Given the description of an element on the screen output the (x, y) to click on. 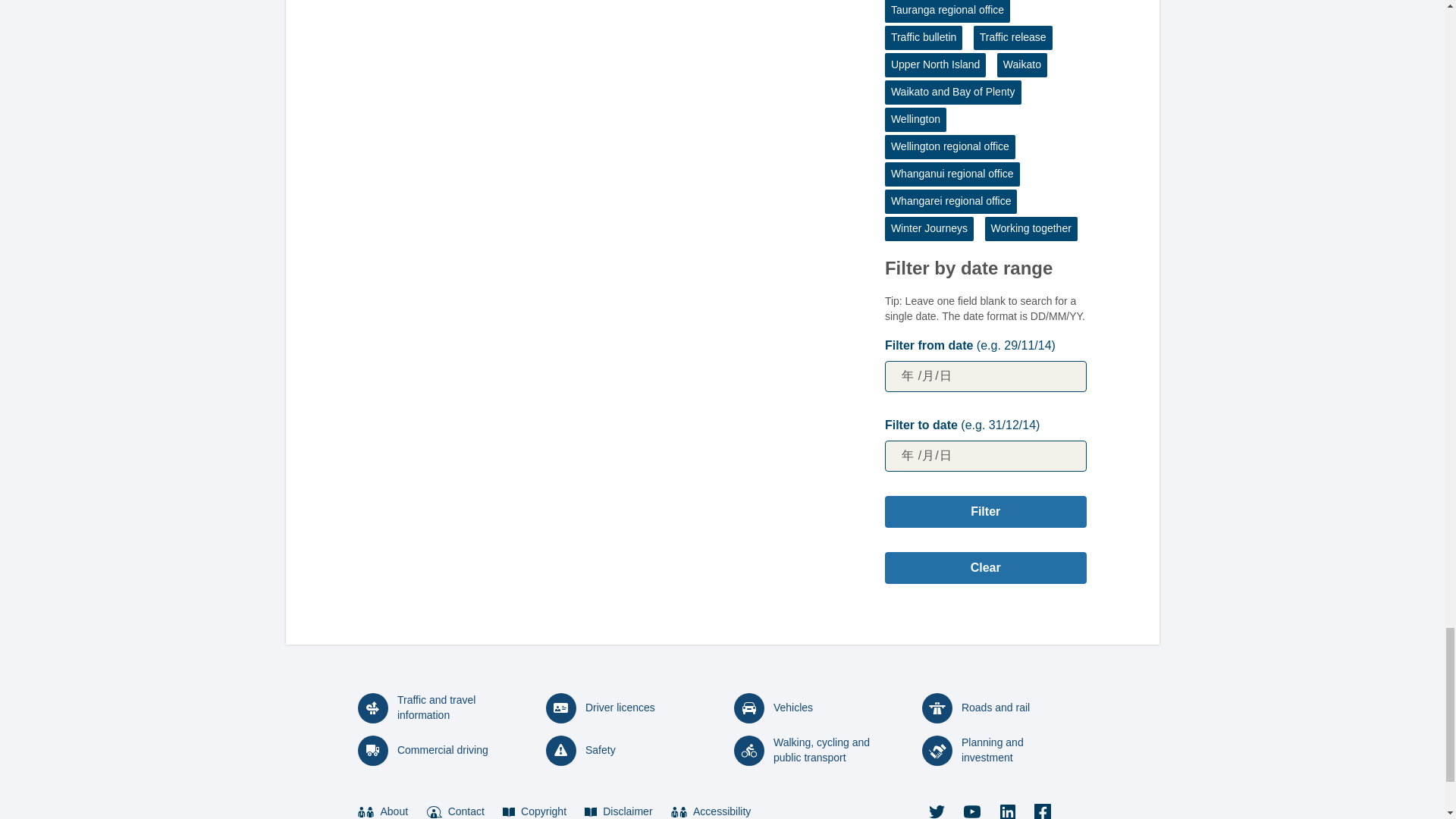
Filter (985, 511)
Clear (985, 567)
